Given the description of an element on the screen output the (x, y) to click on. 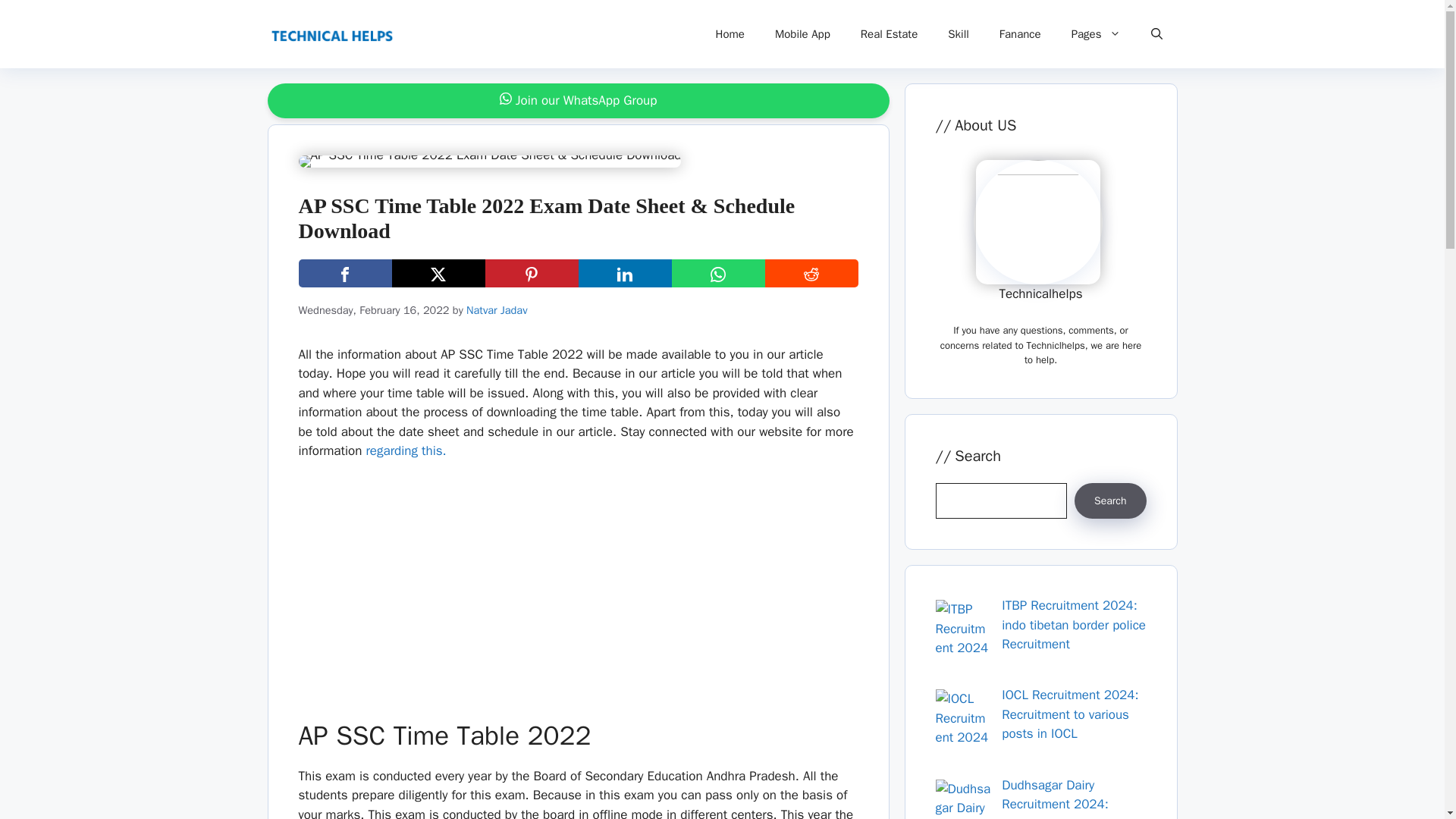
View all posts by Natvar Jadav (496, 309)
regarding this. (405, 450)
Natvar Jadav (496, 309)
Pages (1096, 33)
Real Estate (889, 33)
Join our WhatsApp Group (578, 100)
Mobile App (802, 33)
Skill (958, 33)
Home (730, 33)
IOCL Recruitment 2024: Recruitment to various posts in IOCL (1069, 714)
Search (1110, 500)
Fanance (1020, 33)
